Given the description of an element on the screen output the (x, y) to click on. 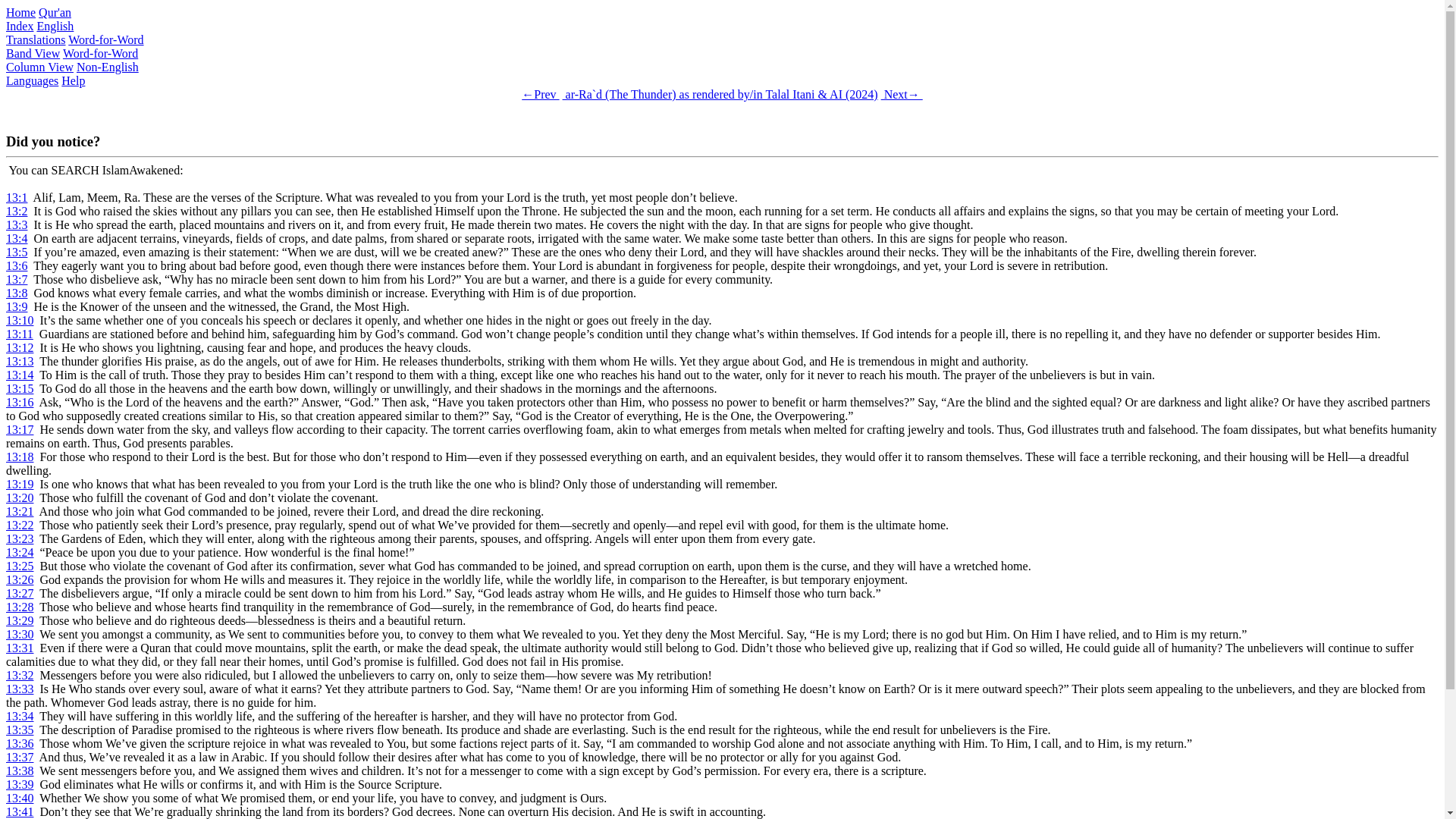
13:9 (16, 306)
13:28 (39, 32)
13:6 (19, 606)
13:1 (16, 265)
13:27 (16, 196)
13:8 (38, 18)
13:22 (19, 593)
13:10 (16, 292)
